Given the description of an element on the screen output the (x, y) to click on. 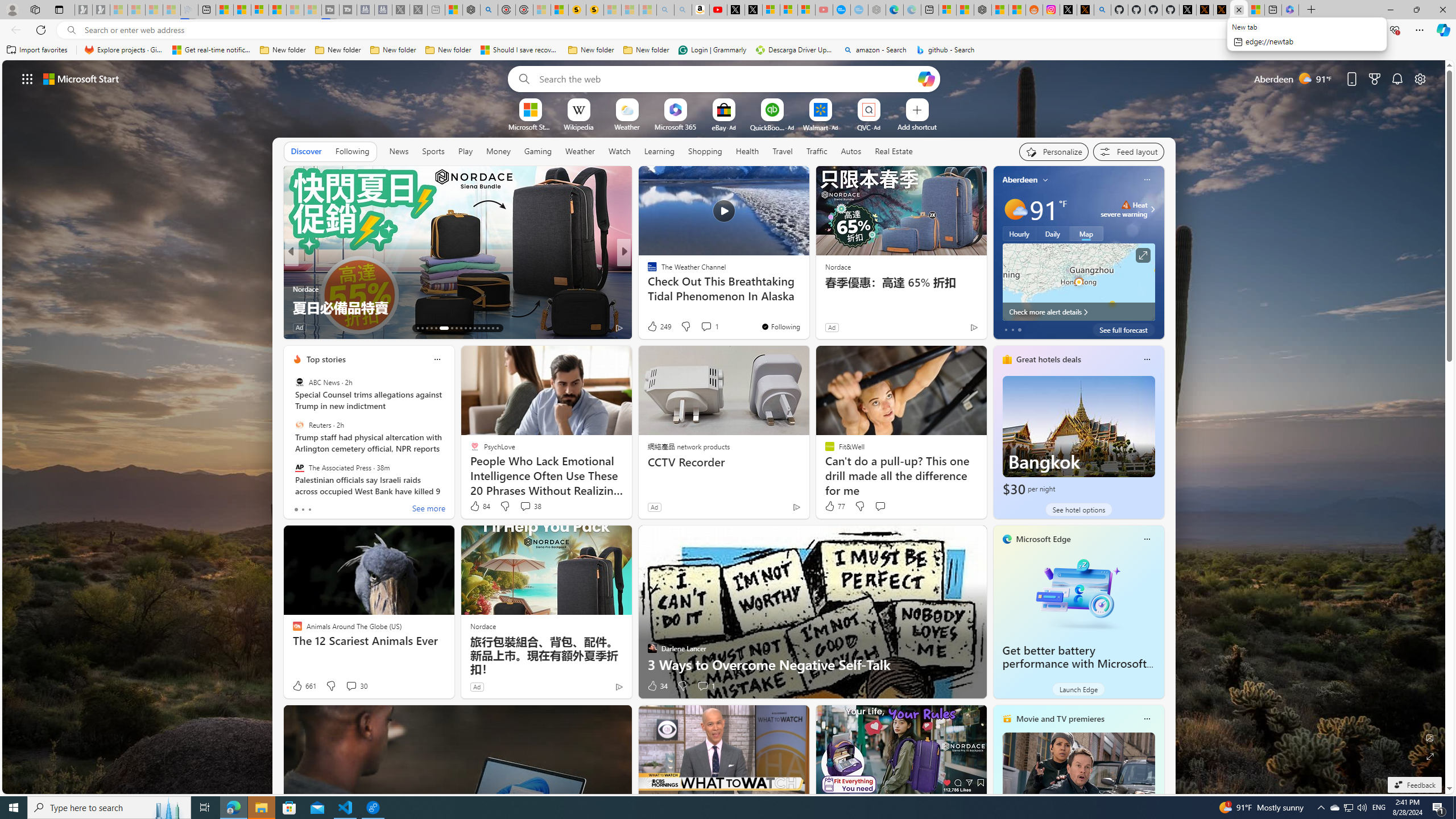
AutomationID: tab-25 (478, 328)
Great hotels deals (1048, 359)
Sports (432, 151)
CBS News (647, 270)
FinanceBuzz (647, 270)
To get missing image descriptions, open the context menu. (529, 109)
This story is trending (951, 329)
Close tab (1238, 9)
AutomationID: tab-28 (492, 328)
See more (428, 509)
Weather (579, 151)
Forge of Empires (668, 288)
27 Like (652, 327)
